Given the description of an element on the screen output the (x, y) to click on. 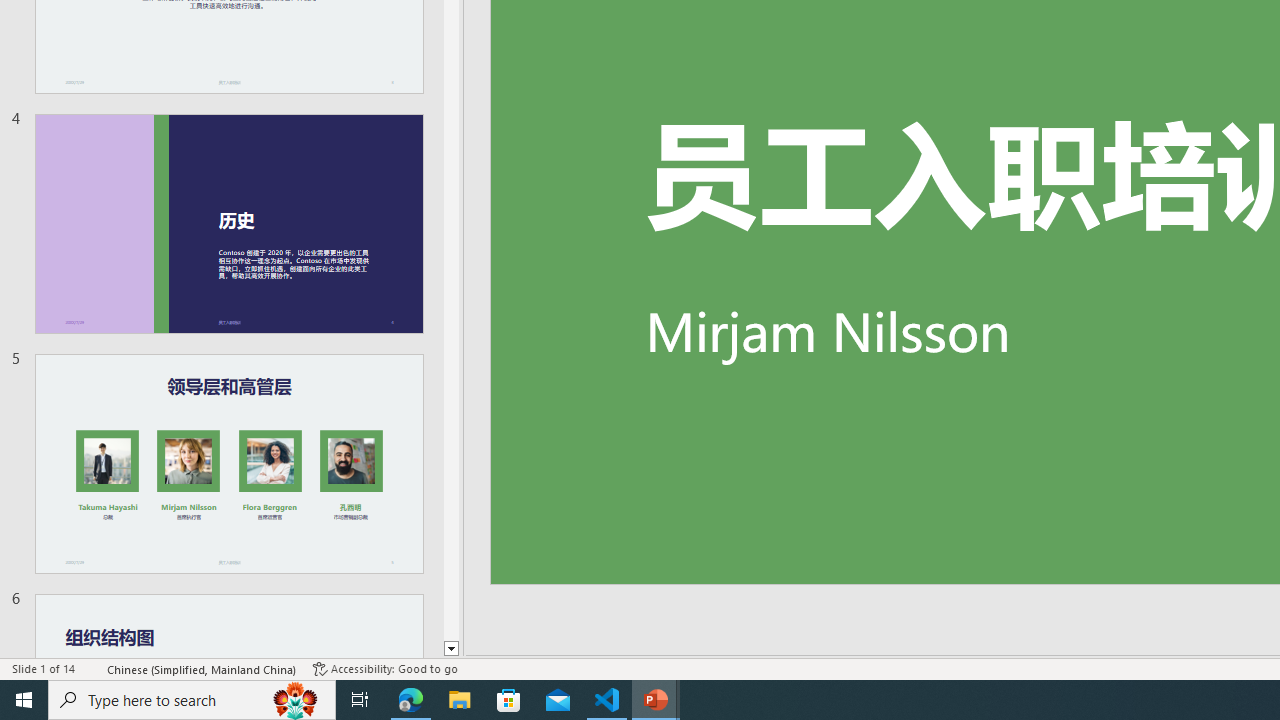
PowerPoint - 2 running windows (656, 699)
Spell Check  (92, 668)
